Given the description of an element on the screen output the (x, y) to click on. 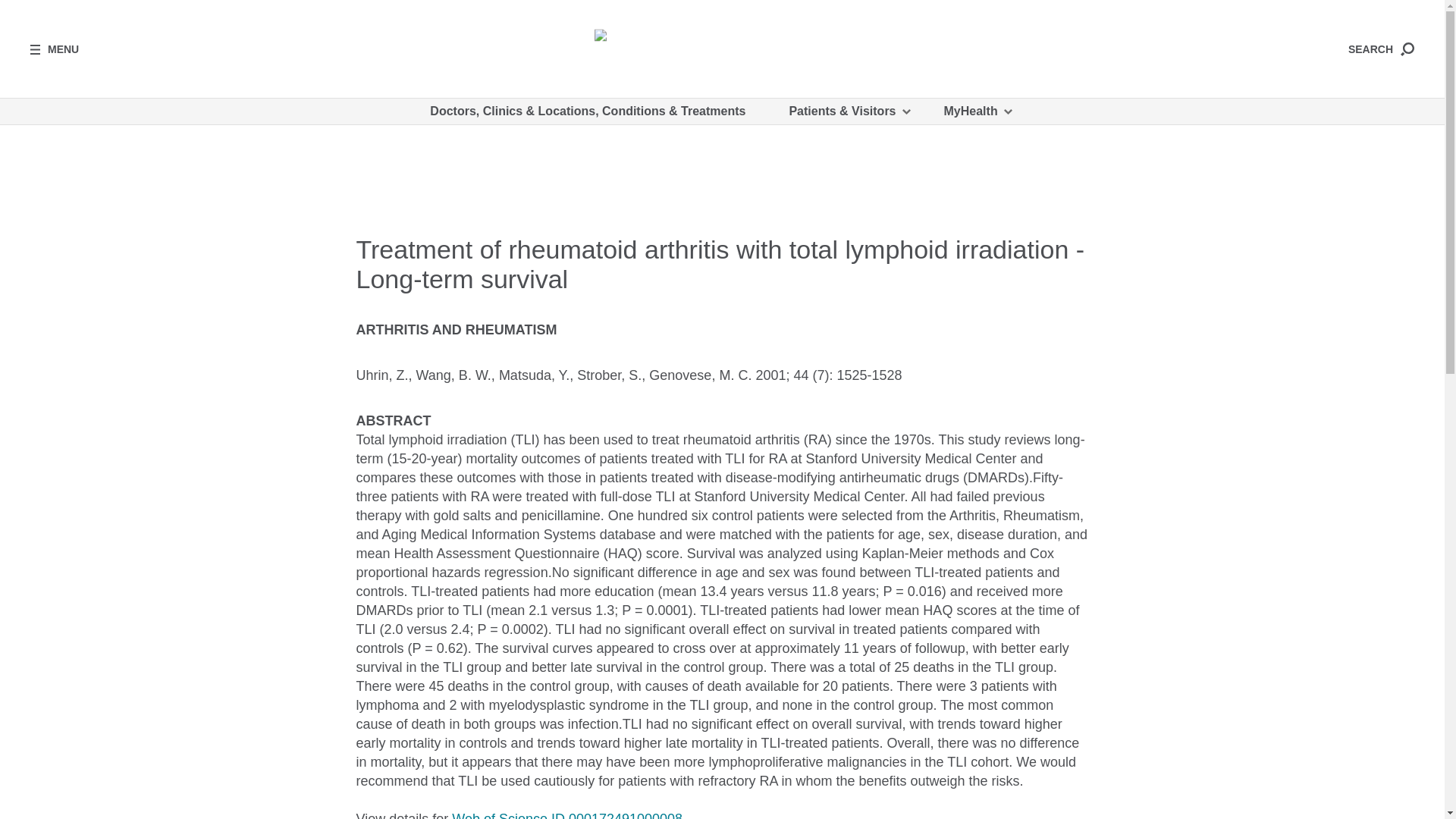
SEARCH (1380, 49)
MENU (54, 49)
MyHealth (976, 110)
